Given the description of an element on the screen output the (x, y) to click on. 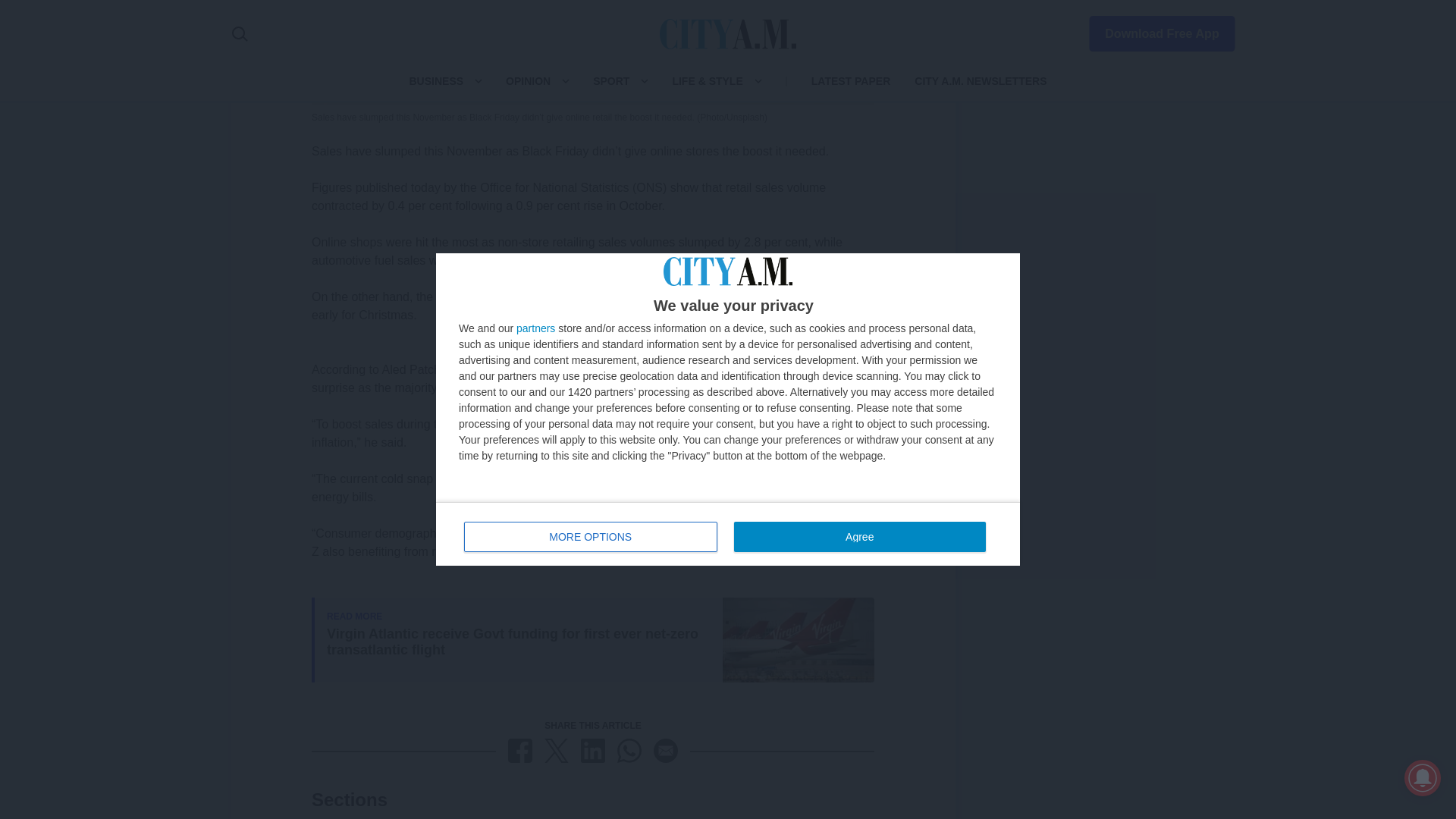
Email (665, 750)
WhatsApp (629, 750)
LinkedIn (592, 750)
Facebook (520, 750)
X (556, 750)
